Given the description of an element on the screen output the (x, y) to click on. 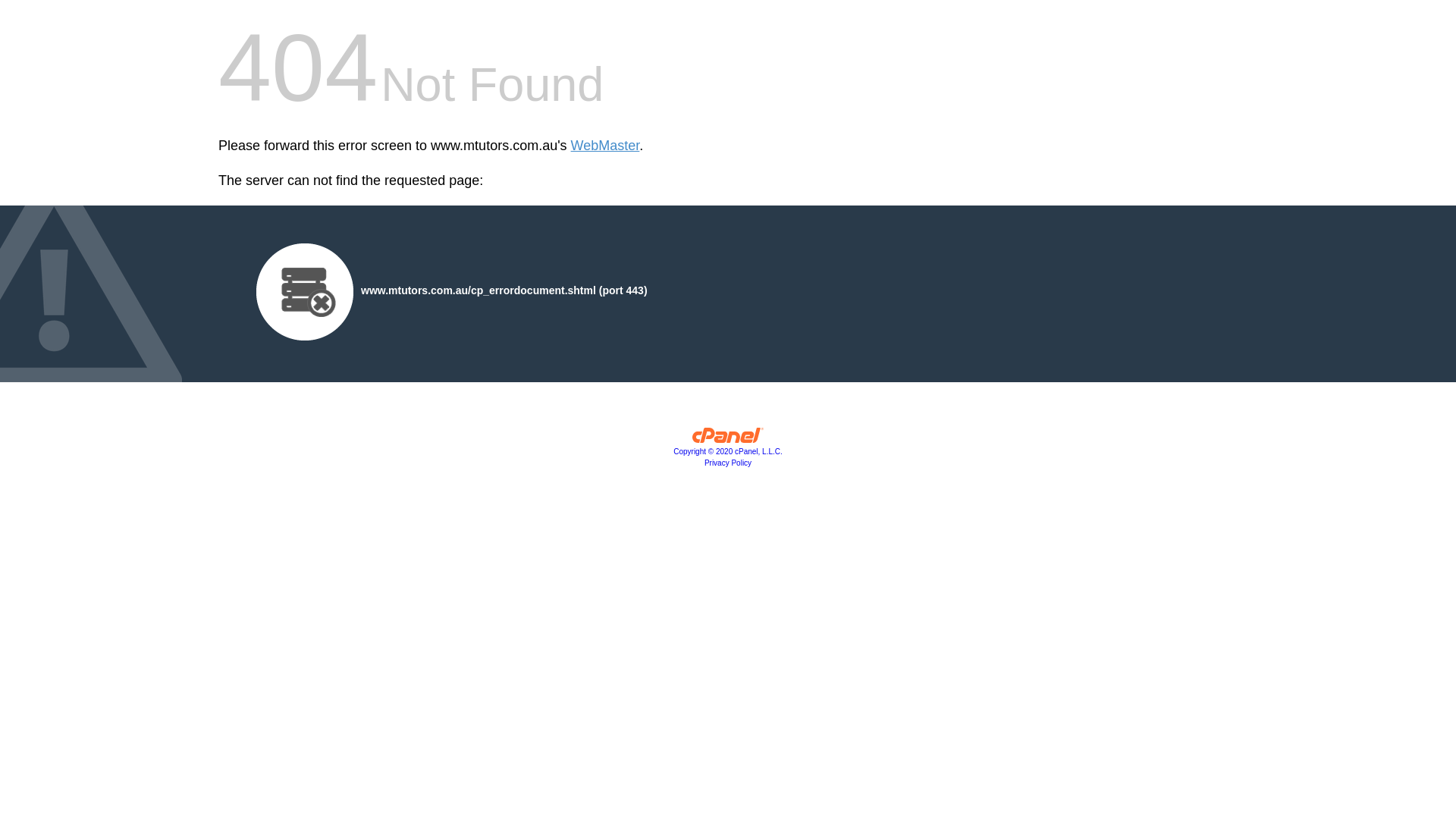
Privacy Policy Element type: text (727, 462)
cPanel, Inc. Element type: hover (728, 439)
WebMaster Element type: text (605, 145)
